Given the description of an element on the screen output the (x, y) to click on. 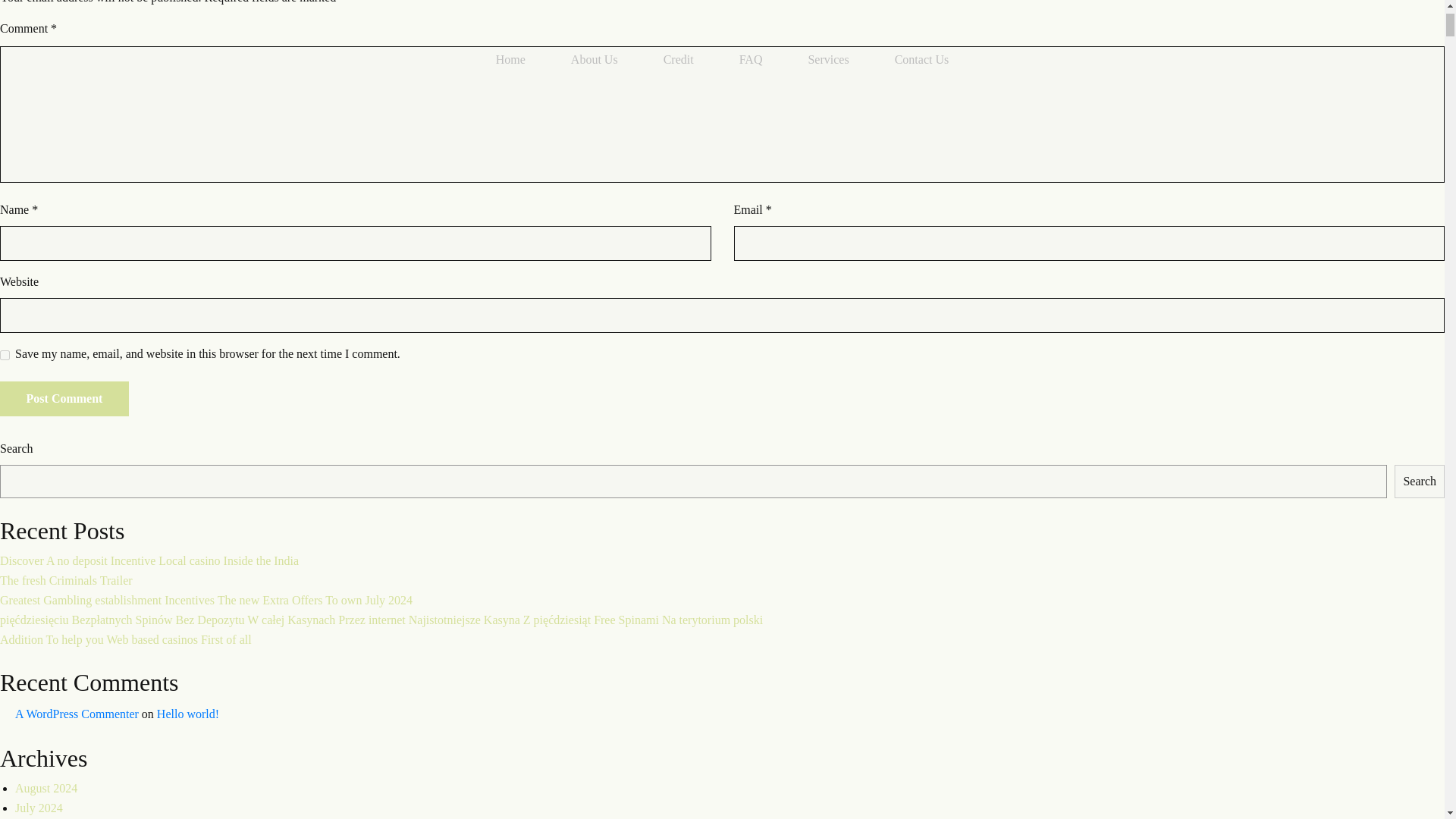
Post Comment (64, 398)
A WordPress Commenter (76, 713)
Search (1419, 481)
Hello world! (188, 713)
July 2024 (38, 807)
Addition To help you Web based casinos First of all (125, 639)
yes (5, 355)
Post Comment (64, 398)
